Given the description of an element on the screen output the (x, y) to click on. 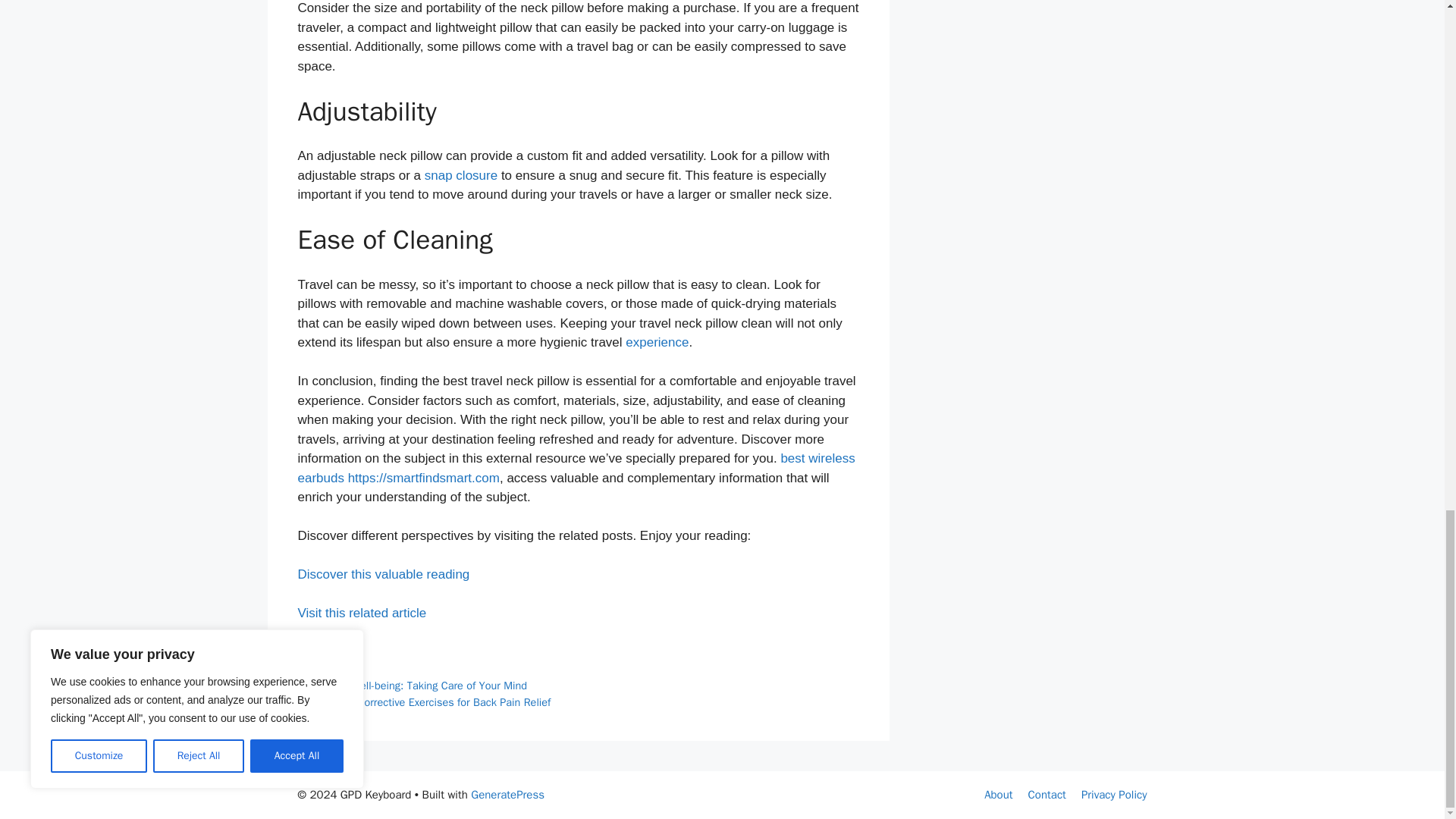
experience (657, 341)
Contact (1046, 794)
Discover this valuable reading (382, 574)
activities (336, 668)
Visit this related article (361, 612)
Privacy Policy (1114, 794)
Mental Well-being: Taking Care of Your Mind (421, 685)
General (333, 653)
GeneratePress (507, 794)
Postural Corrective Exercises for Back Pain Relief (433, 702)
